Given the description of an element on the screen output the (x, y) to click on. 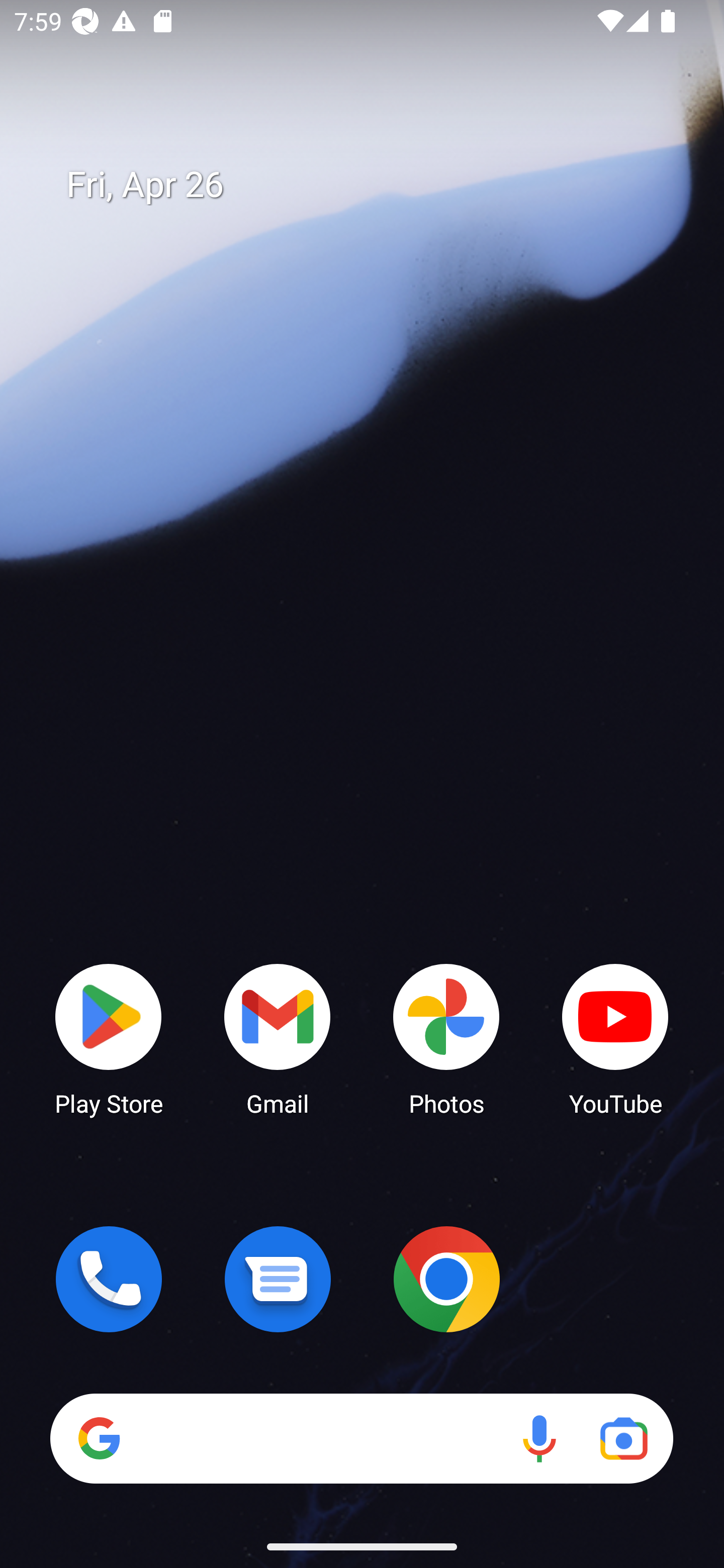
Fri, Apr 26 (375, 184)
Play Store (108, 1038)
Gmail (277, 1038)
Photos (445, 1038)
YouTube (615, 1038)
Phone (108, 1279)
Messages (277, 1279)
Chrome (446, 1279)
Search Voice search Google Lens (361, 1438)
Voice search (539, 1438)
Google Lens (623, 1438)
